Given the description of an element on the screen output the (x, y) to click on. 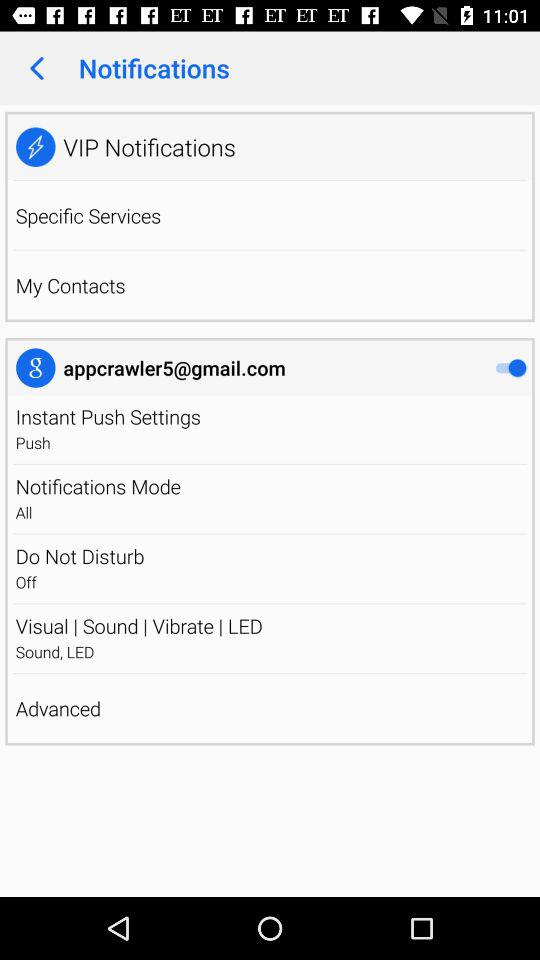
choose the off (25, 581)
